Given the description of an element on the screen output the (x, y) to click on. 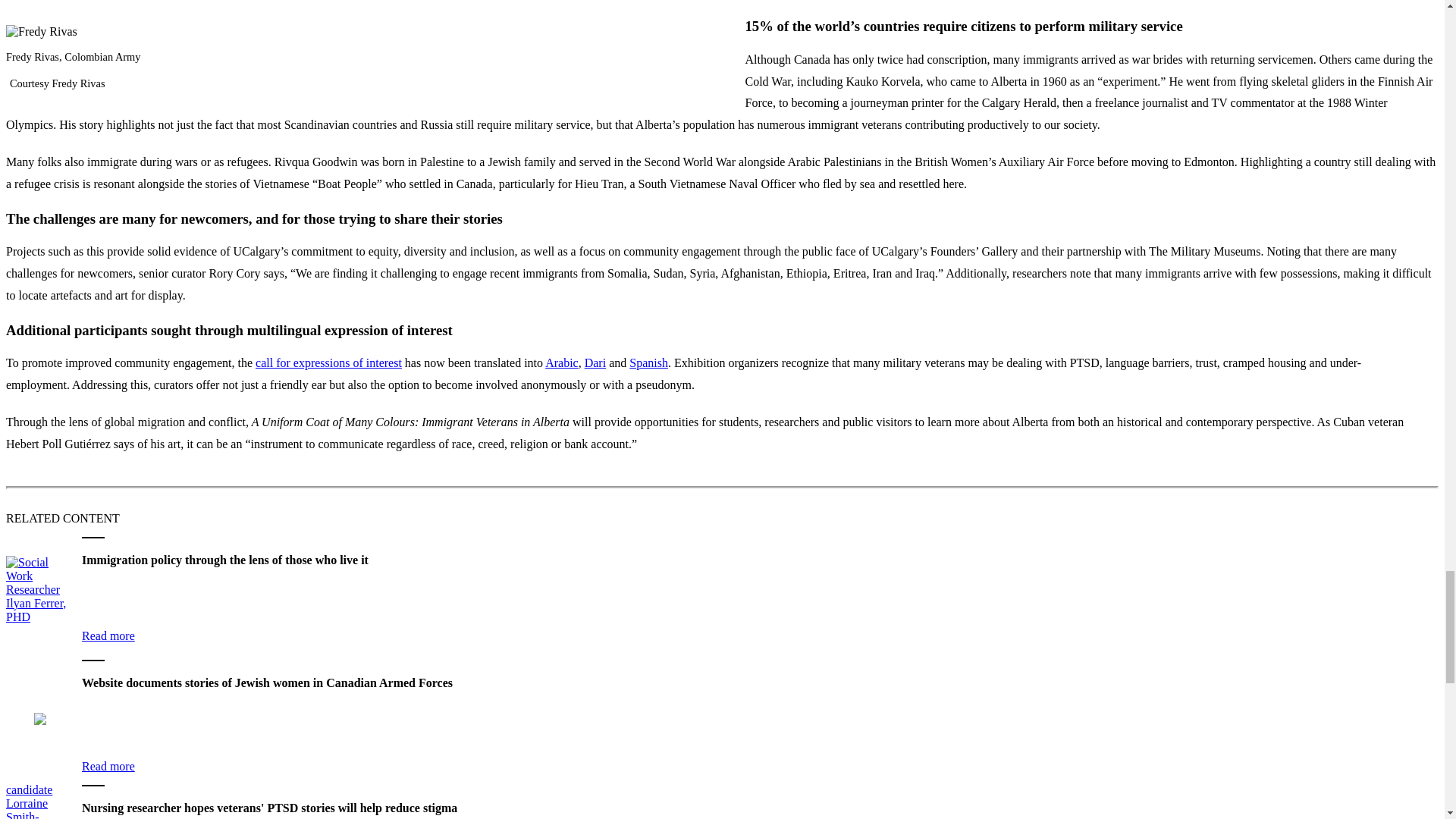
Immigration policy through the lens of those who live it (108, 635)
Immigration policy through the lens of those who live it (39, 590)
